Given the description of an element on the screen output the (x, y) to click on. 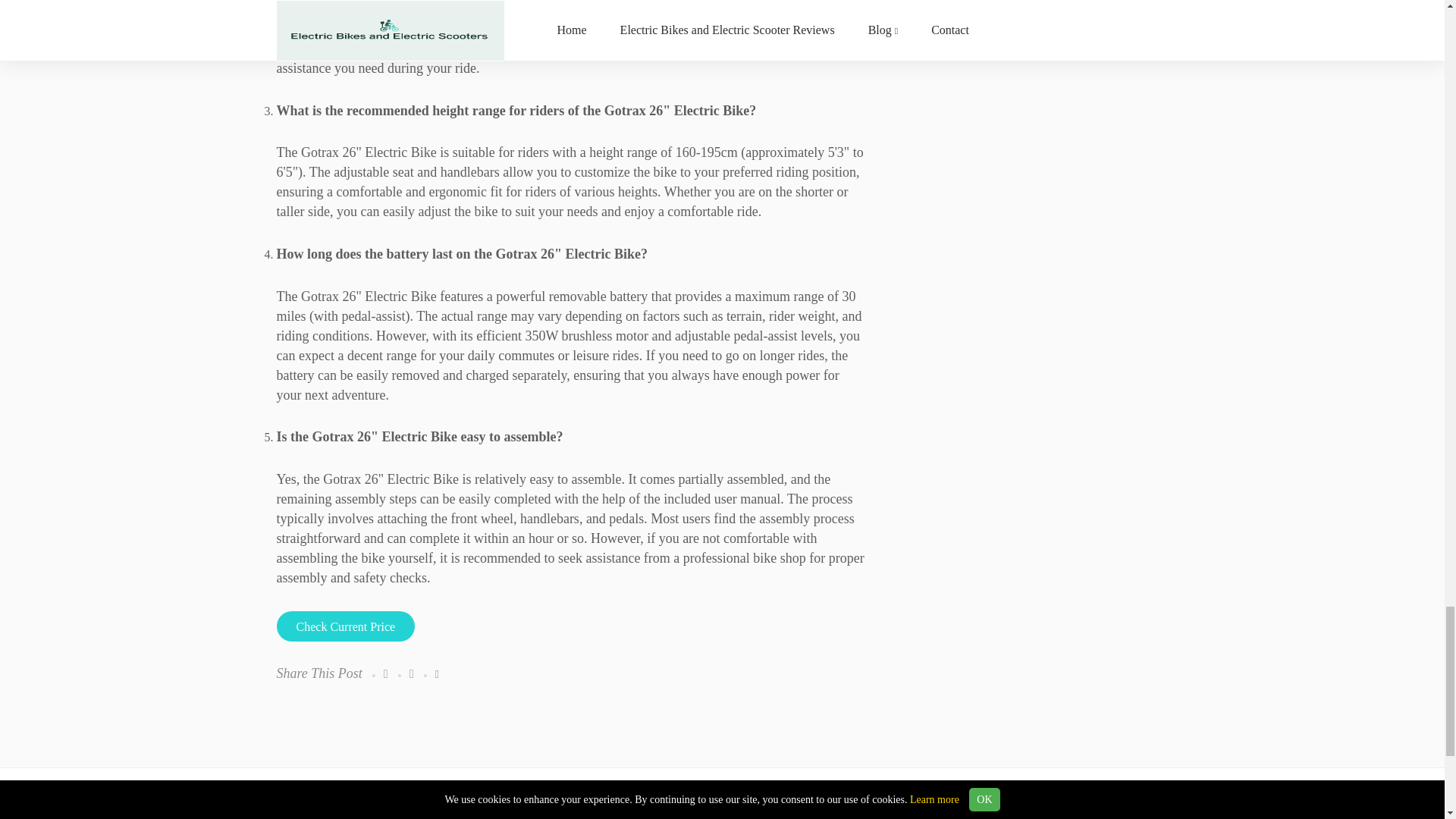
Electric Bikes and Electric Scooters (414, 816)
Electric Bikes and Electric Scooters (414, 816)
Check Current Price (345, 625)
